Given the description of an element on the screen output the (x, y) to click on. 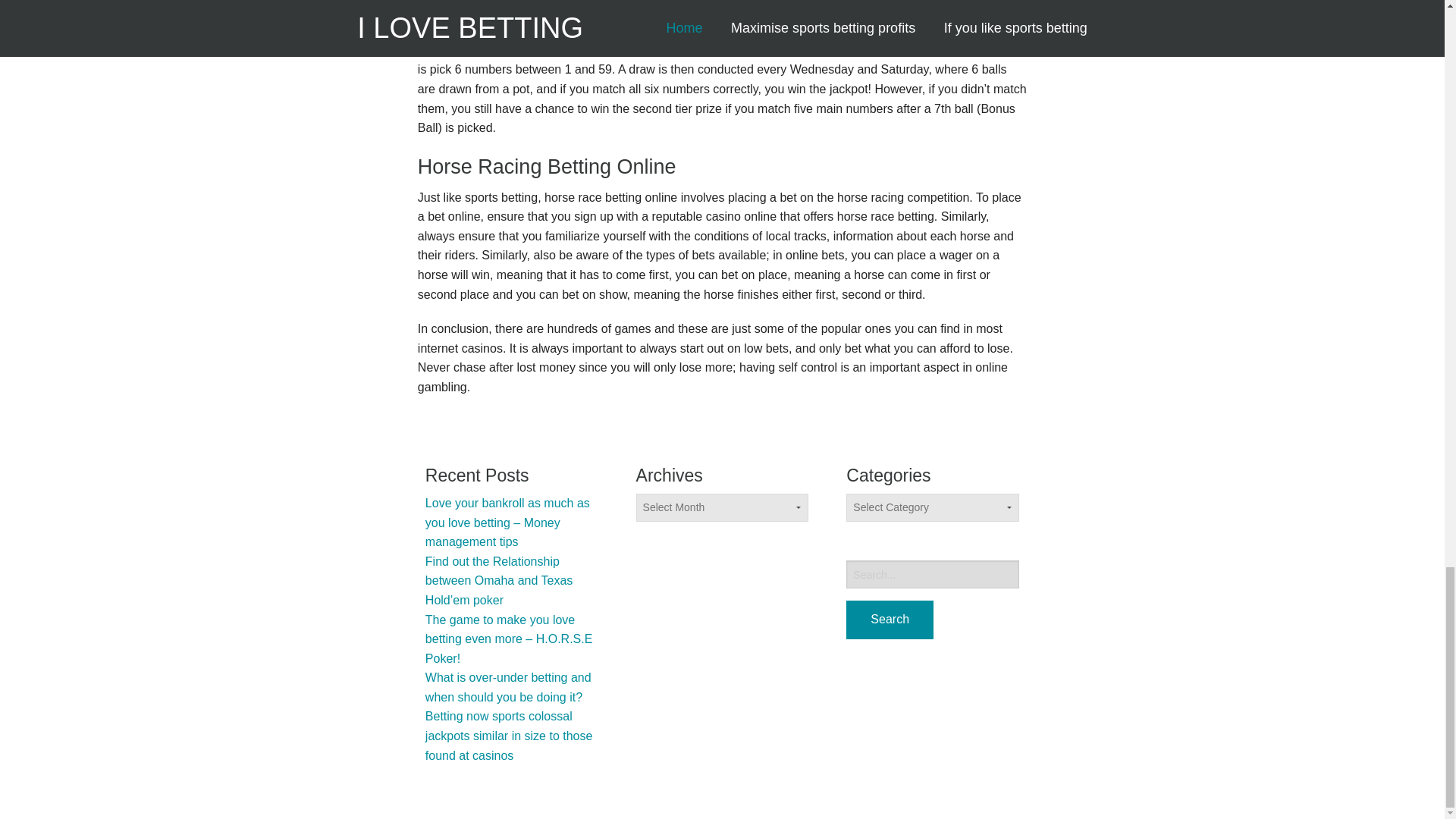
Search (889, 619)
Search for: (932, 574)
What is over-under betting and when should you be doing it? (508, 686)
Search (889, 619)
Search (889, 619)
